Given the description of an element on the screen output the (x, y) to click on. 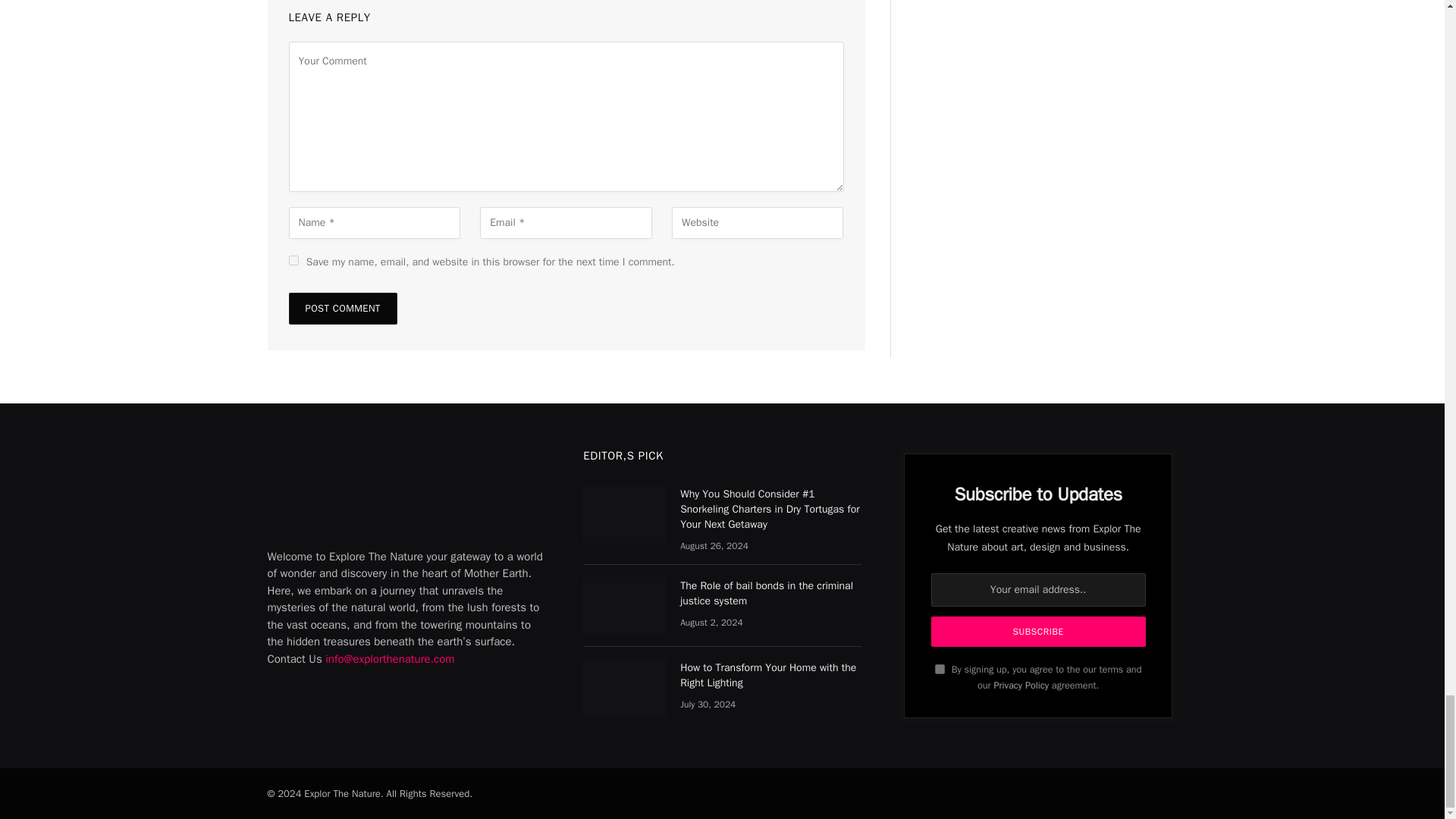
Post Comment (342, 308)
Subscribe (1038, 631)
yes (293, 260)
on (939, 669)
